Given the description of an element on the screen output the (x, y) to click on. 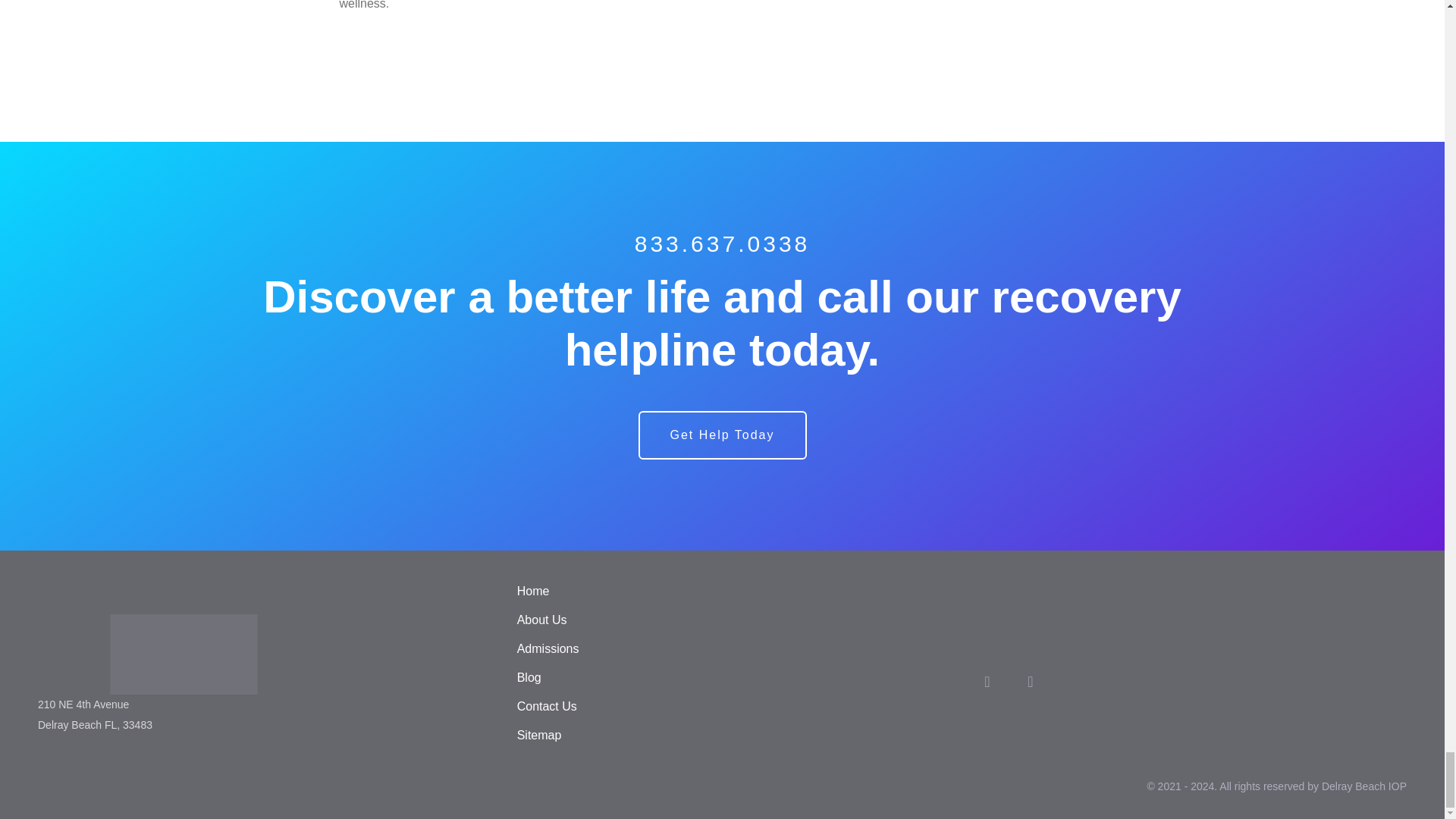
About Us (541, 619)
Home (533, 590)
Admissions (547, 648)
Delray Beach IOP (258, 654)
Get Help Today (722, 435)
